Given the description of an element on the screen output the (x, y) to click on. 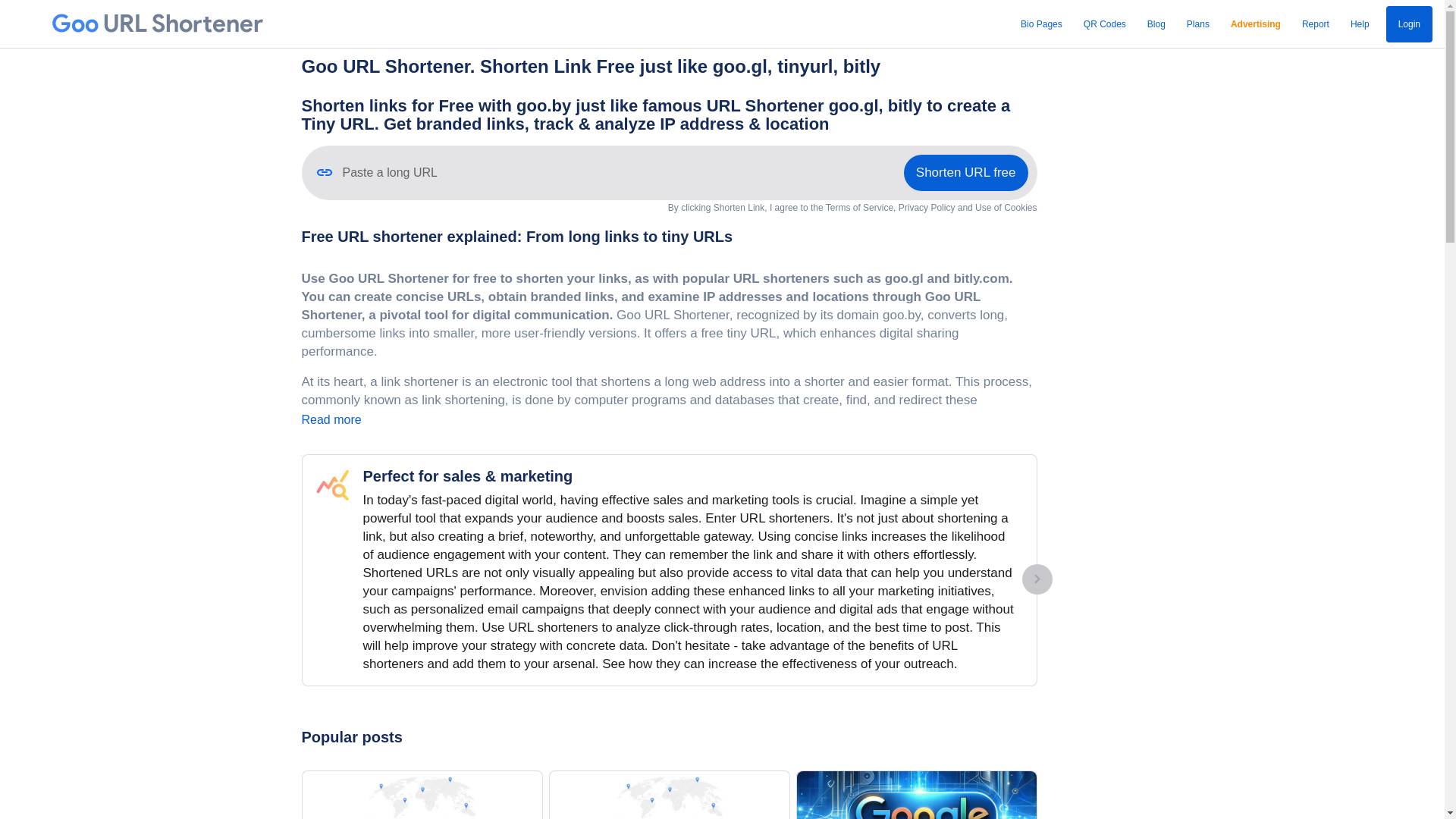
Advertising Element type: text (1255, 24)
Read more Element type: text (331, 419)
Plans Element type: text (1198, 24)
QR Codes Element type: text (1104, 24)
Blog Element type: text (1156, 24)
Help Element type: text (1360, 24)
Shorten URL free Element type: text (965, 172)
Login Element type: text (1409, 24)
Bio Pages Element type: text (1041, 24)
Report Element type: text (1315, 24)
